Given the description of an element on the screen output the (x, y) to click on. 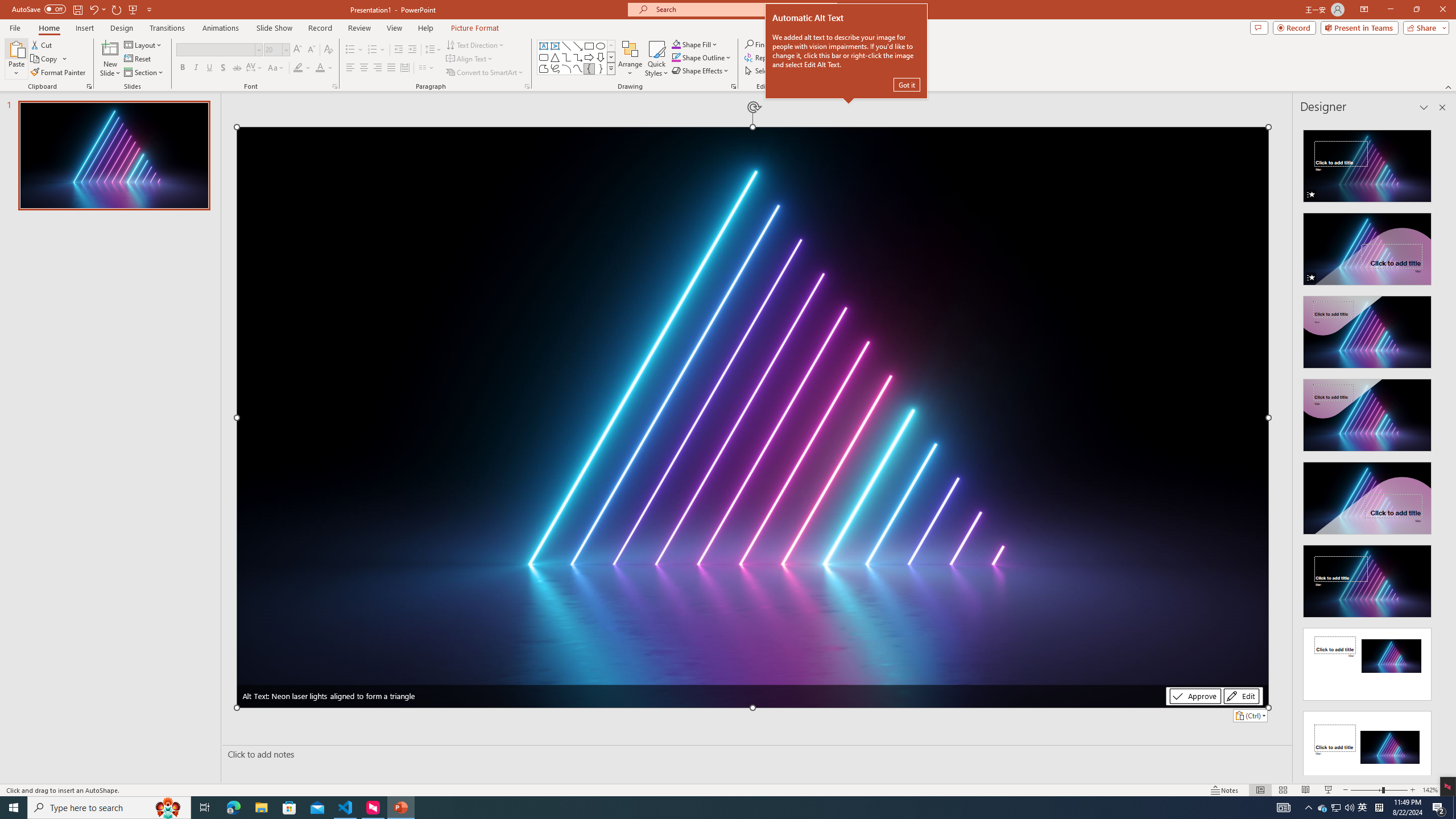
Shape Effects (700, 69)
